Given the description of an element on the screen output the (x, y) to click on. 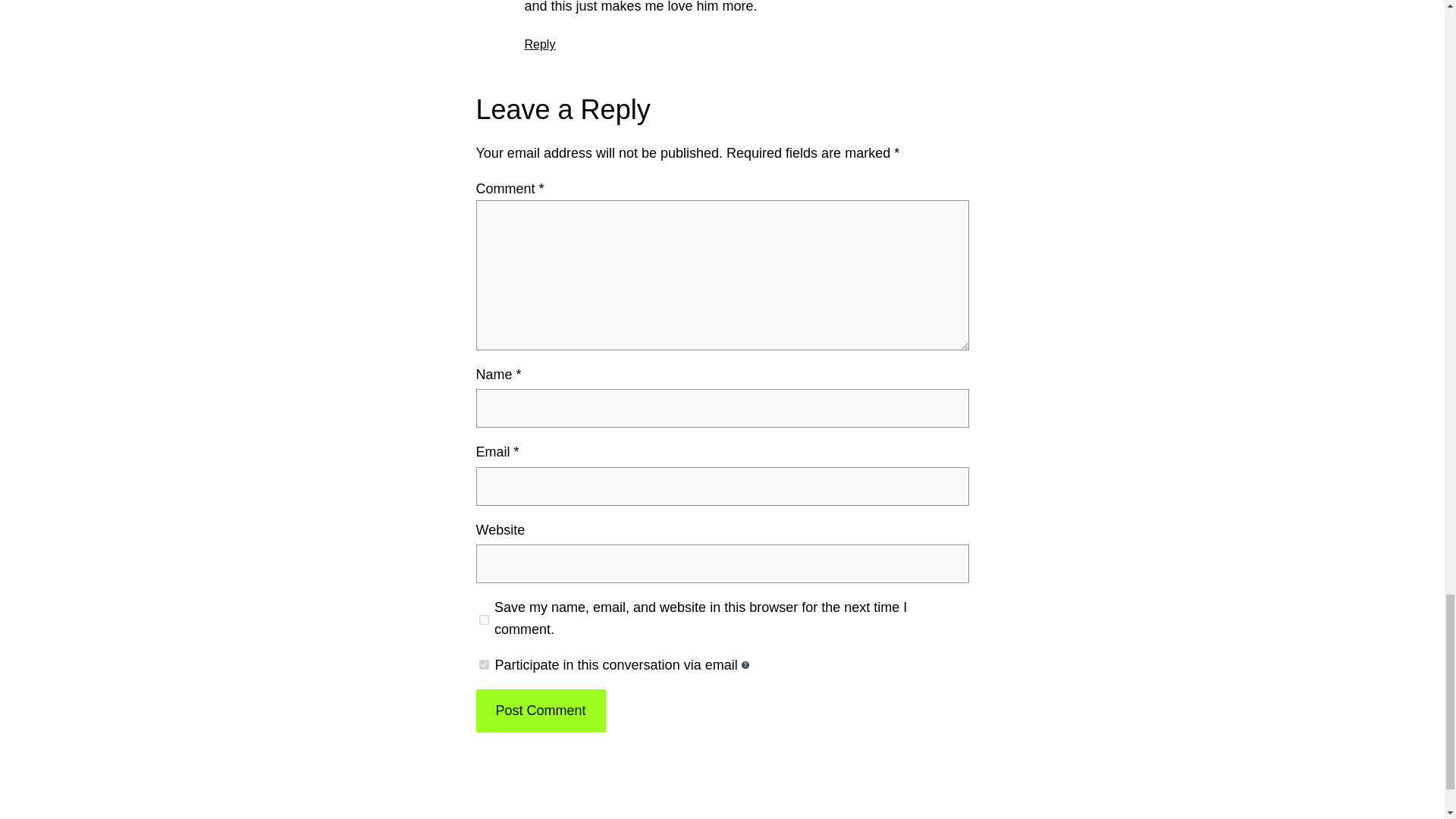
1 (484, 664)
Post Comment (540, 710)
Reply (540, 43)
Post Comment (540, 710)
